Given the description of an element on the screen output the (x, y) to click on. 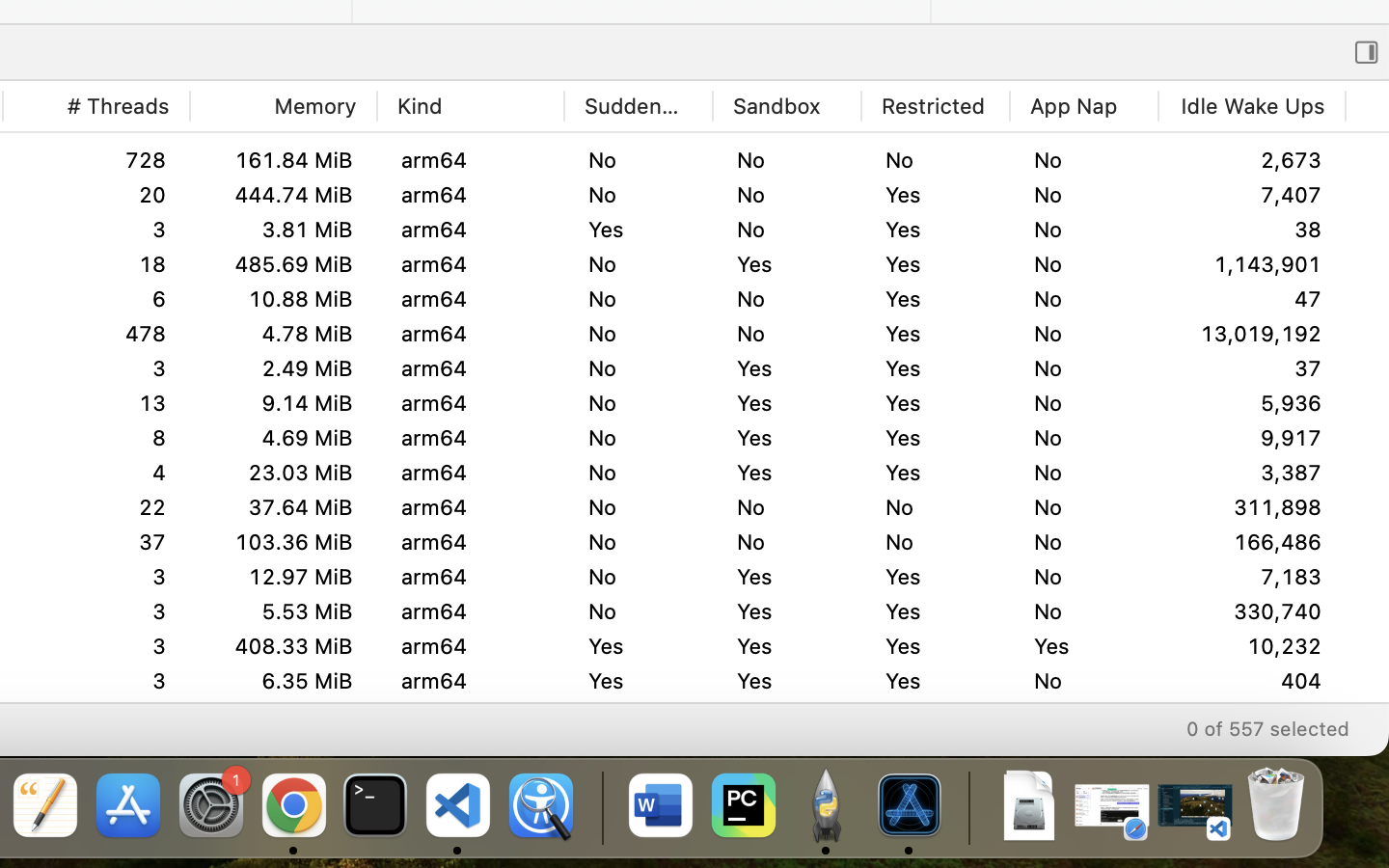
0 Element type: AXCheckBox (1366, 51)
13,002,952 Element type: AXStaticText (1251, 263)
123.10 MiB Element type: AXStaticText (283, 159)
443.86 MiB Element type: AXStaticText (283, 194)
3.81 MiB Element type: AXStaticText (283, 229)
